Given the description of an element on the screen output the (x, y) to click on. 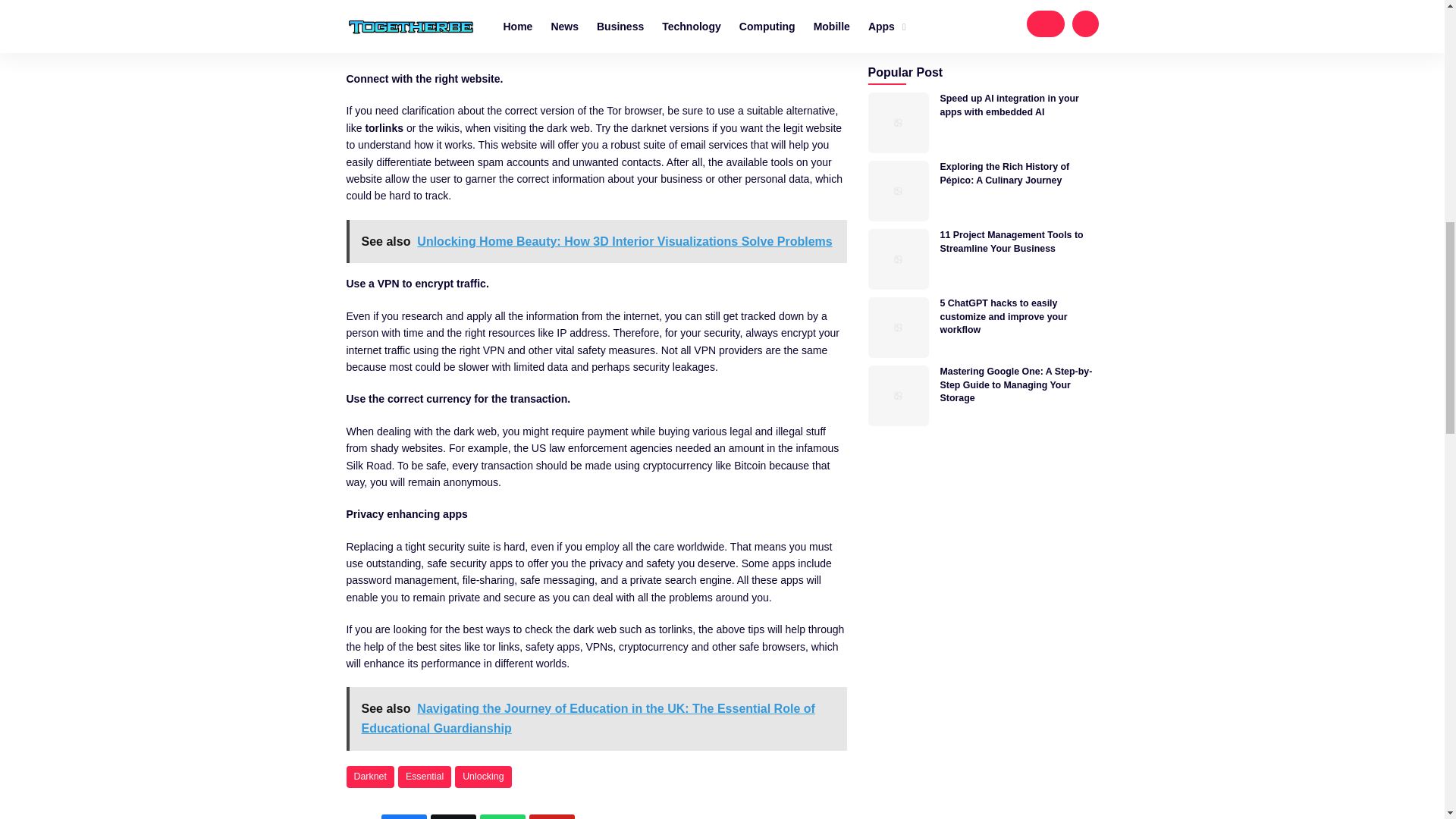
Share on Email (552, 816)
Share on Facebook (403, 816)
Share on Twitter (453, 816)
Darknet (369, 776)
Share on Whatsapp (502, 816)
Essential (424, 776)
Unlocking (482, 776)
